Given the description of an element on the screen output the (x, y) to click on. 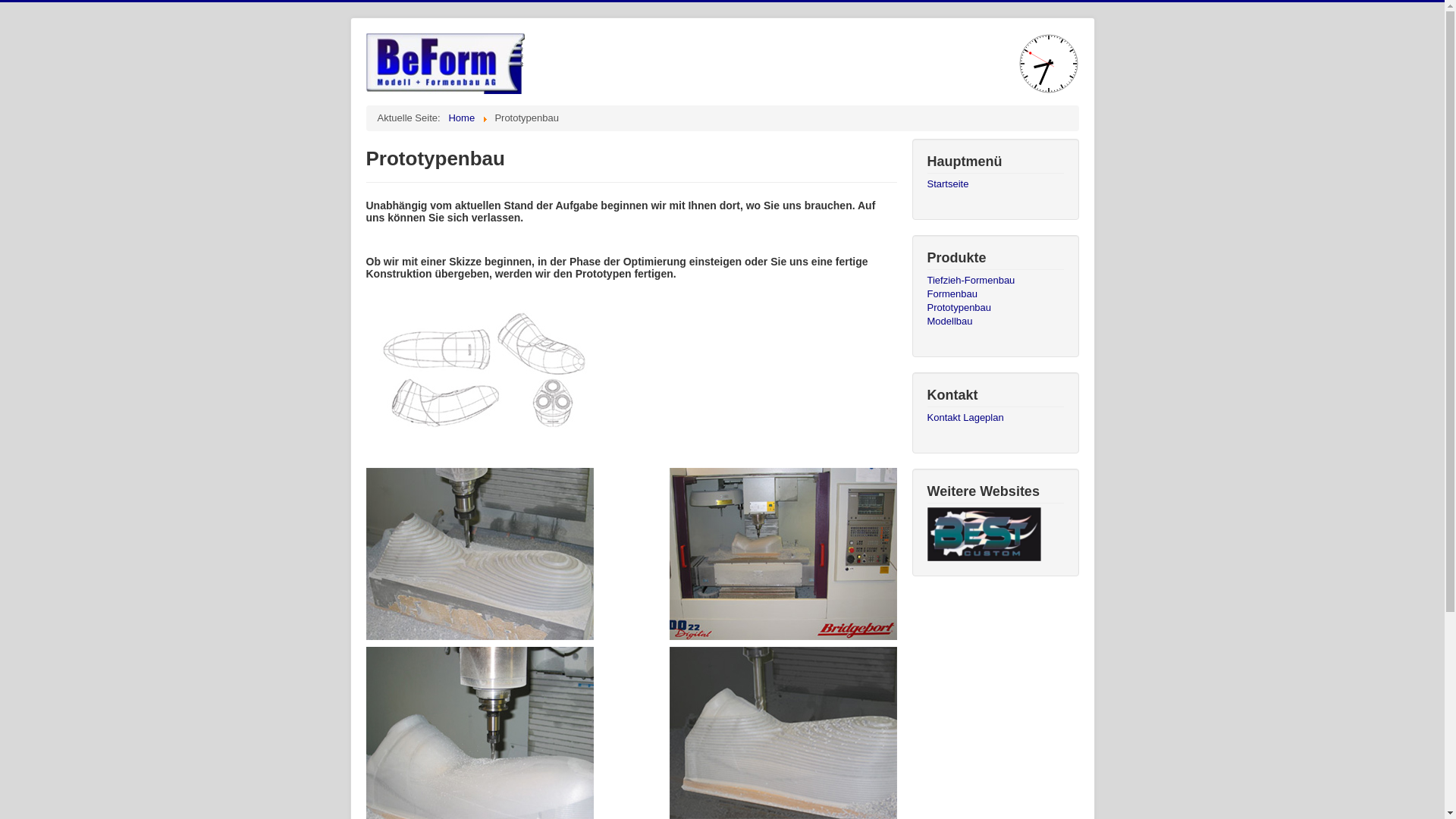
Kontakt Lageplan Element type: text (994, 417)
Prototypenbau Element type: text (994, 307)
Tiefzieh-Formenbau Element type: text (994, 280)
Startseite Element type: text (994, 184)
Home Element type: text (461, 117)
Formenbau Element type: text (994, 294)
Modellbau Element type: text (994, 321)
BeSt Custom Element type: hover (983, 533)
